Given the description of an element on the screen output the (x, y) to click on. 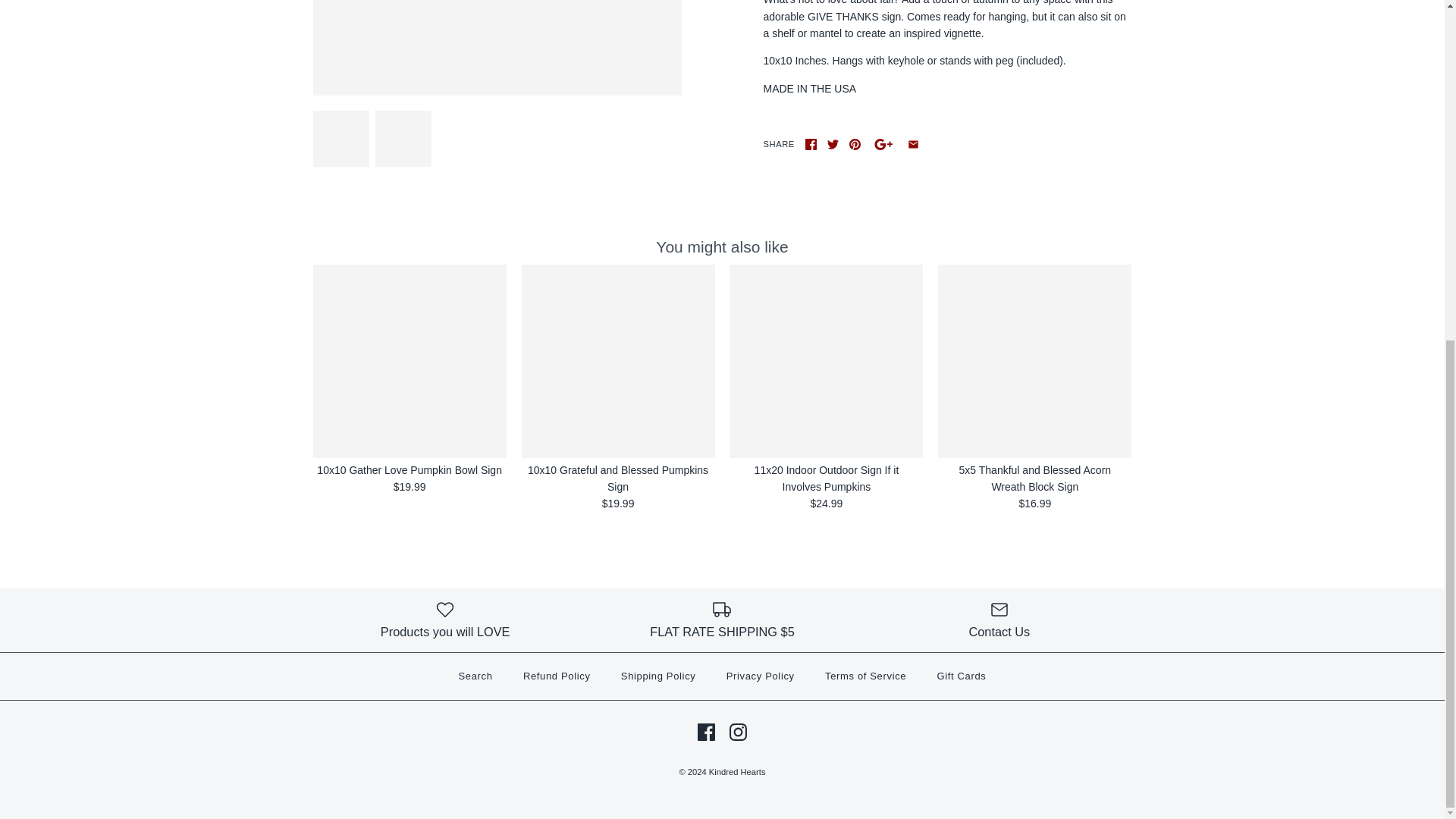
Facebook (705, 732)
10x10 Give Thanks Acorns Sign (340, 138)
Email (912, 143)
Facebook (810, 143)
Share using email (912, 143)
Share on Facebook (810, 143)
GooglePlus (883, 143)
Instagram (737, 732)
10x10 Give Thanks Acorns Sign (402, 138)
10x10 Give Thanks Acorns Sign (497, 47)
